Given the description of an element on the screen output the (x, y) to click on. 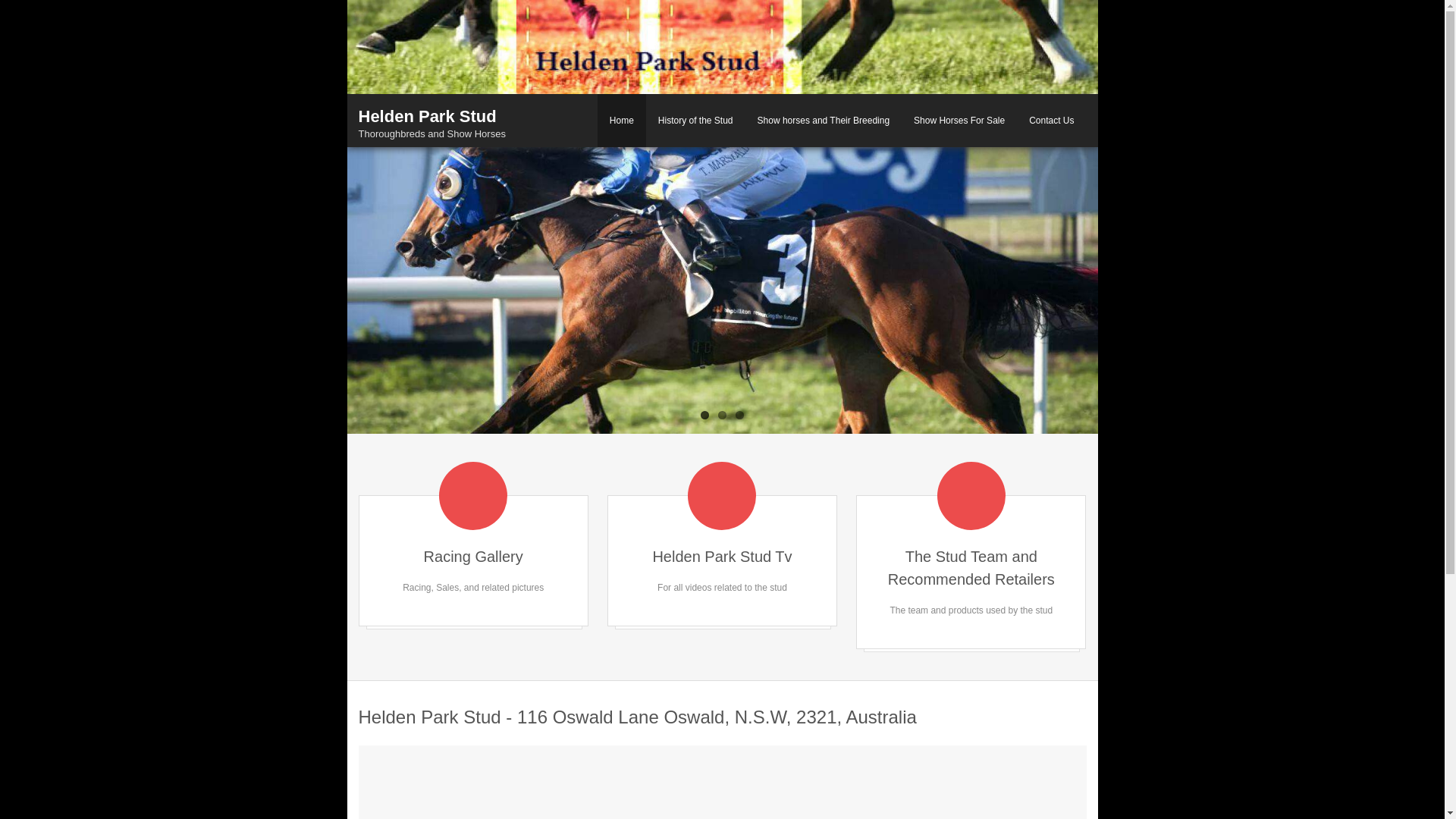
Helden Park Stud Tv
For all videos related to the stud Element type: text (722, 560)
History of the Stud Element type: text (695, 120)
2 Element type: text (722, 415)
Racing Gallery
Racing, Sales, and related pictures Element type: text (473, 560)
1 Element type: text (704, 415)
Show Horses For Sale Element type: text (958, 120)
3 Element type: text (739, 415)
Helden Park Stud
Thoroughbreds and Show Horses Element type: text (431, 121)
Home Element type: text (621, 120)
Contact Us Element type: text (1050, 120)
Show horses and Their Breeding Element type: text (823, 120)
